Given the description of an element on the screen output the (x, y) to click on. 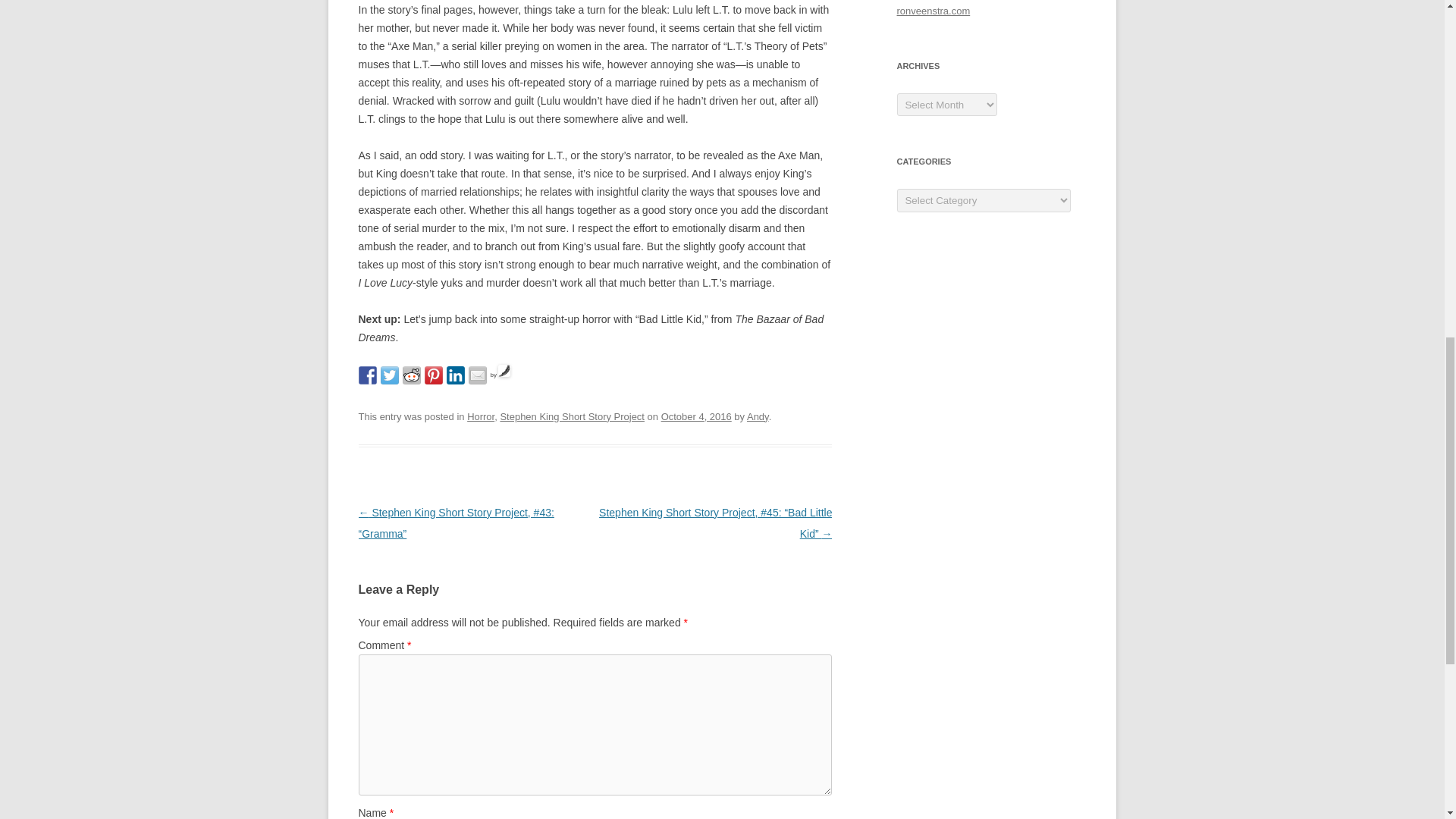
WordPress Social Media Feather (500, 374)
Pin it with Pinterest (433, 375)
October 4, 2016 (696, 416)
Andy (757, 416)
by (500, 374)
Horror (481, 416)
Share on Facebook (366, 375)
Share on Reddit (410, 375)
11:07 pm (696, 416)
Stephen King Short Story Project (572, 416)
